Given the description of an element on the screen output the (x, y) to click on. 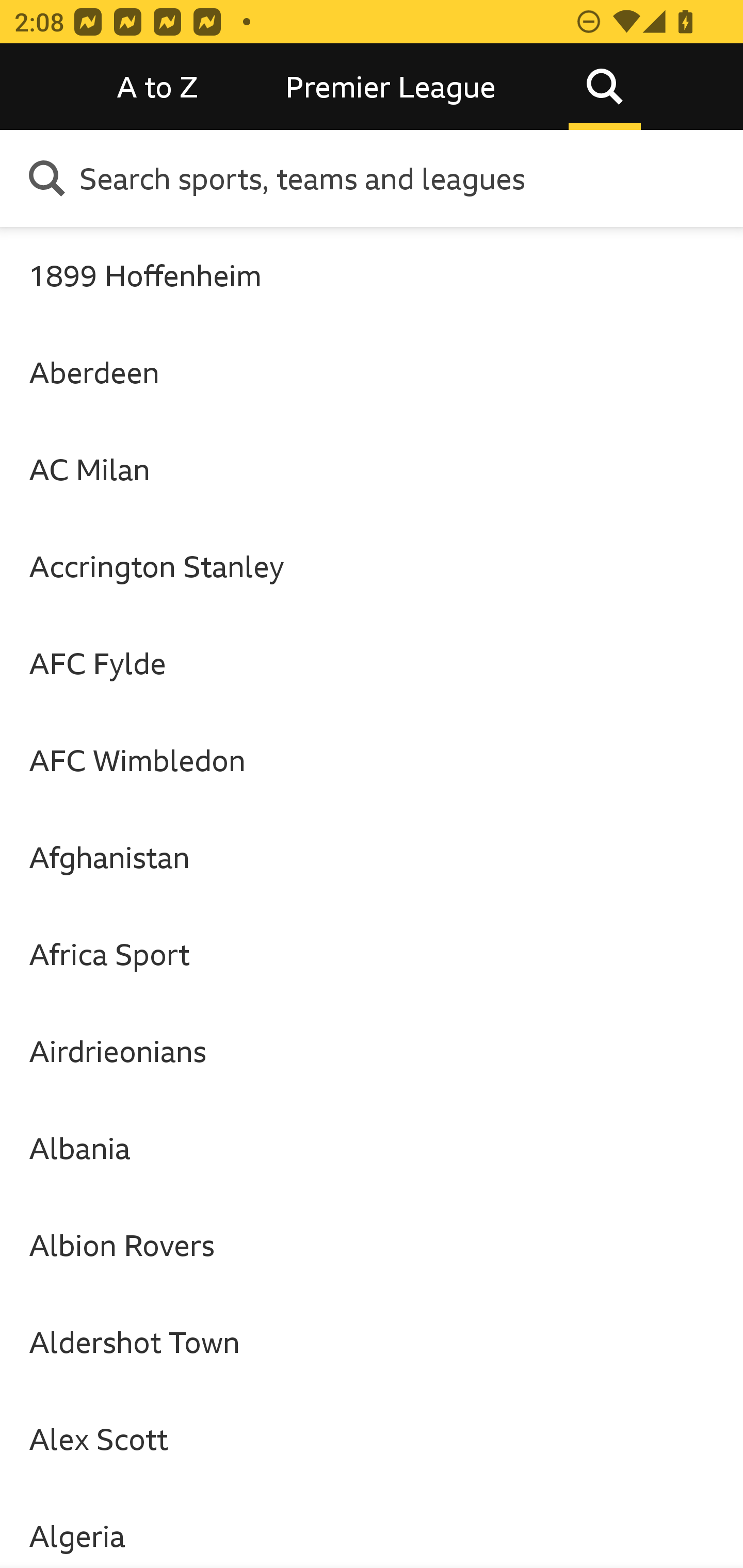
A to Z (157, 86)
Premier League (390, 86)
Search sports, teams and leagues (404, 178)
1899 Hoffenheim (371, 275)
Aberdeen (371, 372)
AC Milan (371, 468)
Accrington Stanley (371, 565)
AFC Fylde (371, 662)
AFC Wimbledon (371, 760)
Afghanistan (371, 857)
Africa Sport (371, 953)
Airdrieonians (371, 1050)
Albania (371, 1147)
Albion Rovers (371, 1244)
Aldershot Town (371, 1341)
Alex Scott (371, 1439)
Algeria (371, 1528)
